Given the description of an element on the screen output the (x, y) to click on. 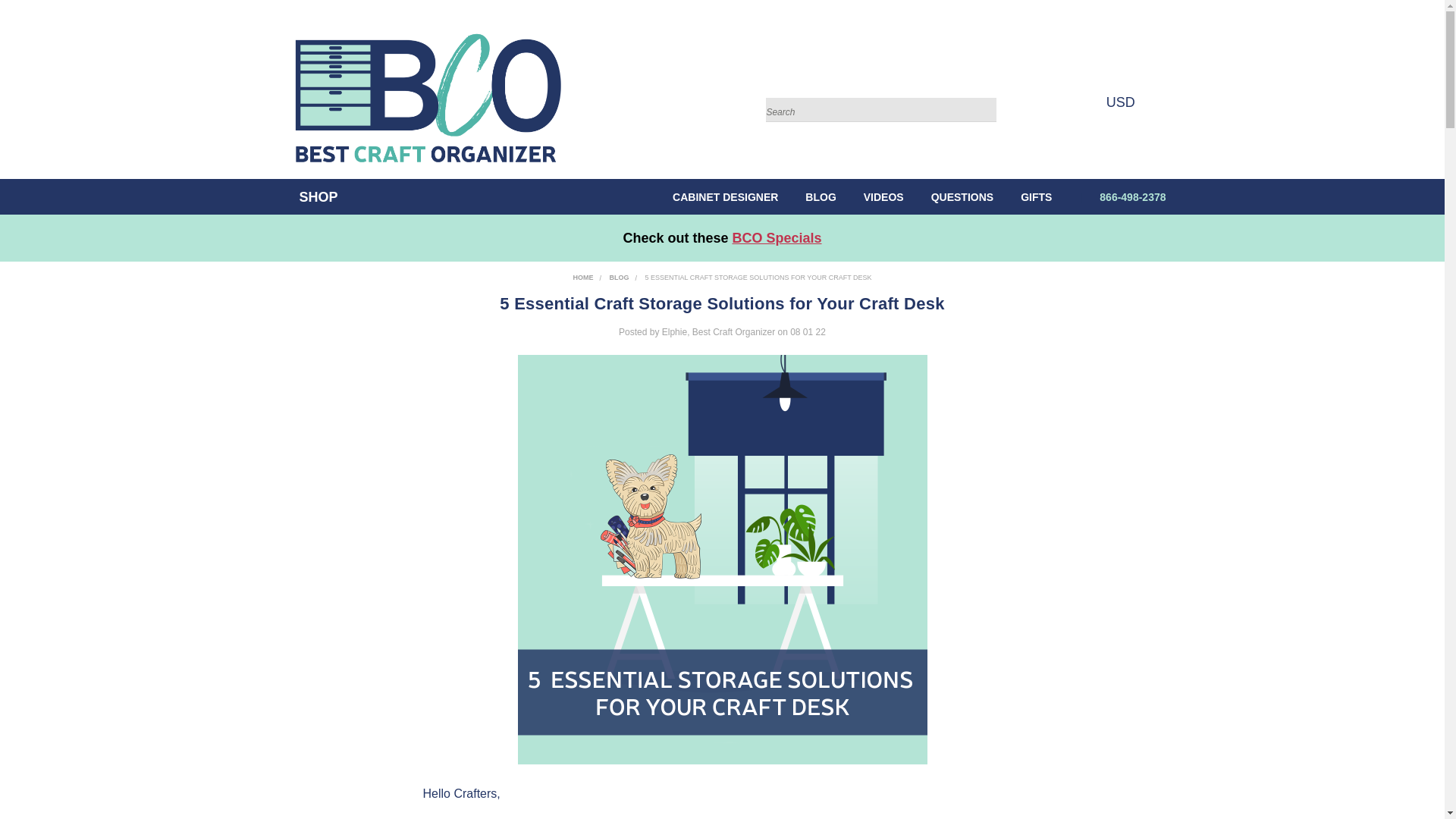
Gift Certificates (1082, 102)
User Toolbox (1052, 102)
Best Craft Organizer (425, 98)
Submit Search (983, 90)
Currency Selector (1123, 102)
USD (1123, 102)
